Given the description of an element on the screen output the (x, y) to click on. 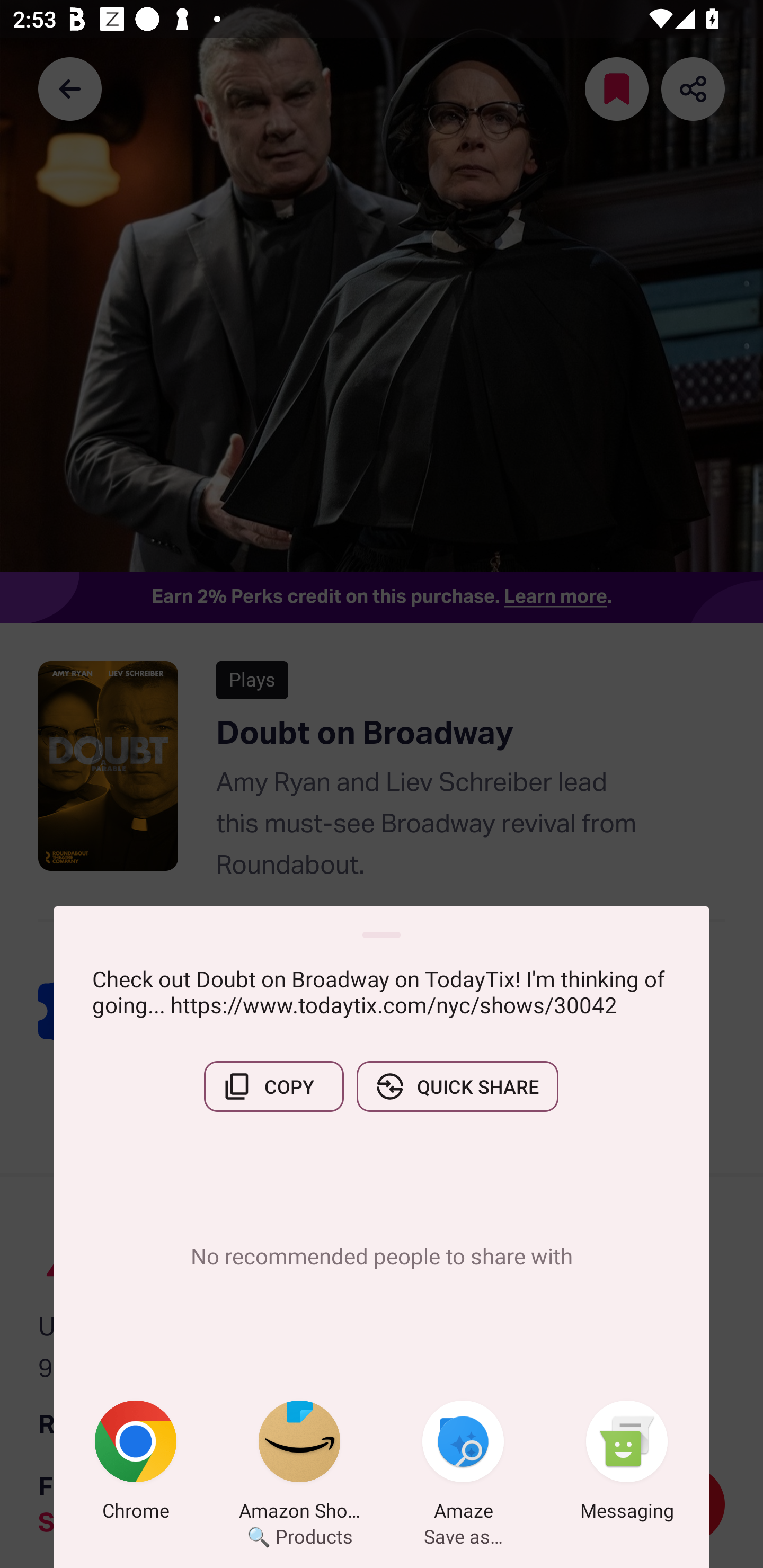
COPY (273, 1086)
QUICK SHARE (457, 1086)
Chrome (135, 1463)
Amazon Shopping 🔍 Products (299, 1463)
Amaze Save as… (463, 1463)
Messaging (626, 1463)
